Given the description of an element on the screen output the (x, y) to click on. 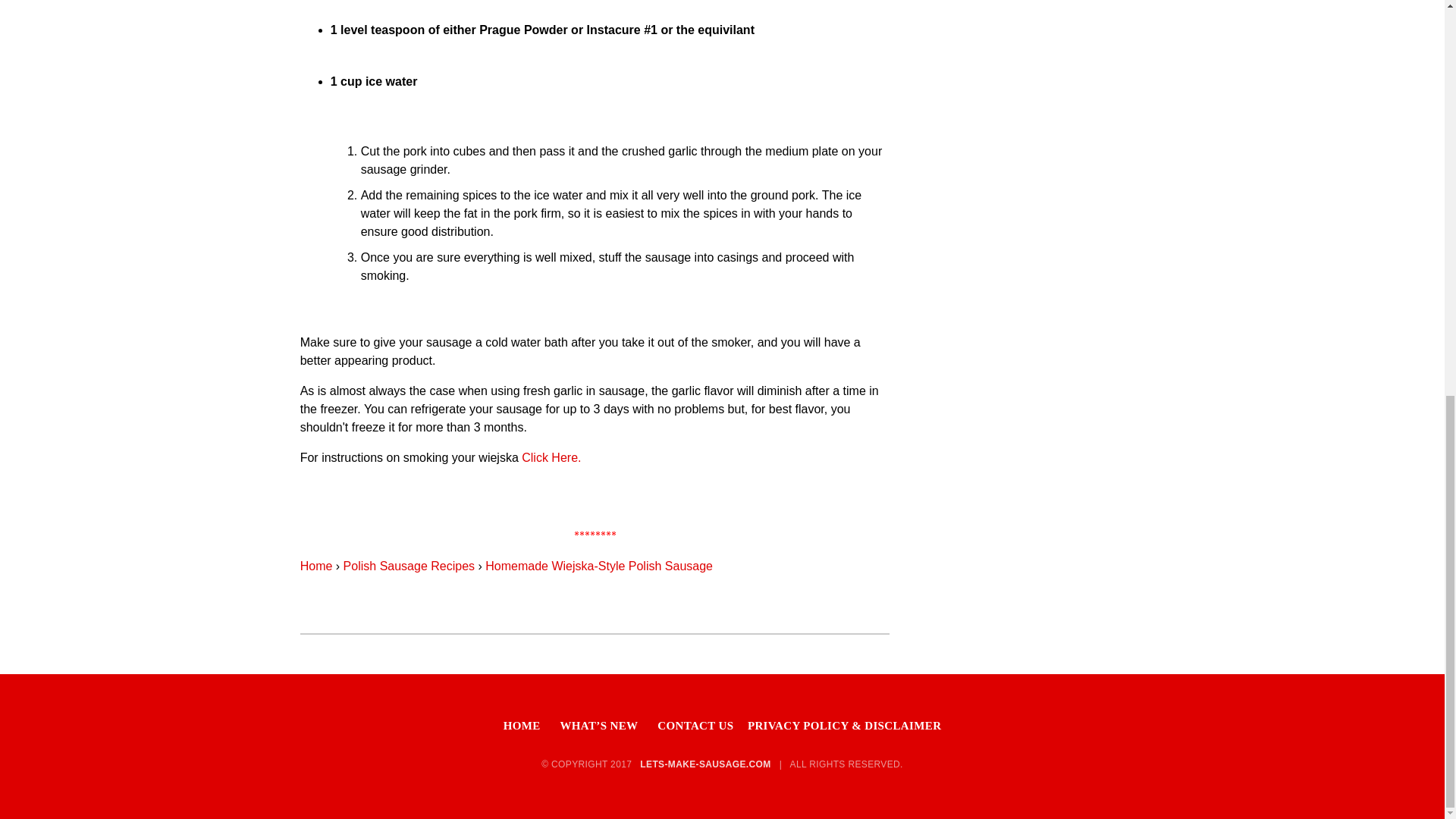
Click Here. (550, 457)
LETS-MAKE-SAUSAGE.COM (705, 764)
HOME (521, 725)
CONTACT US (695, 725)
Homemade Wiejska-Style Polish Sausage (598, 565)
Home (316, 565)
Polish Sausage Recipes (411, 565)
